Given the description of an element on the screen output the (x, y) to click on. 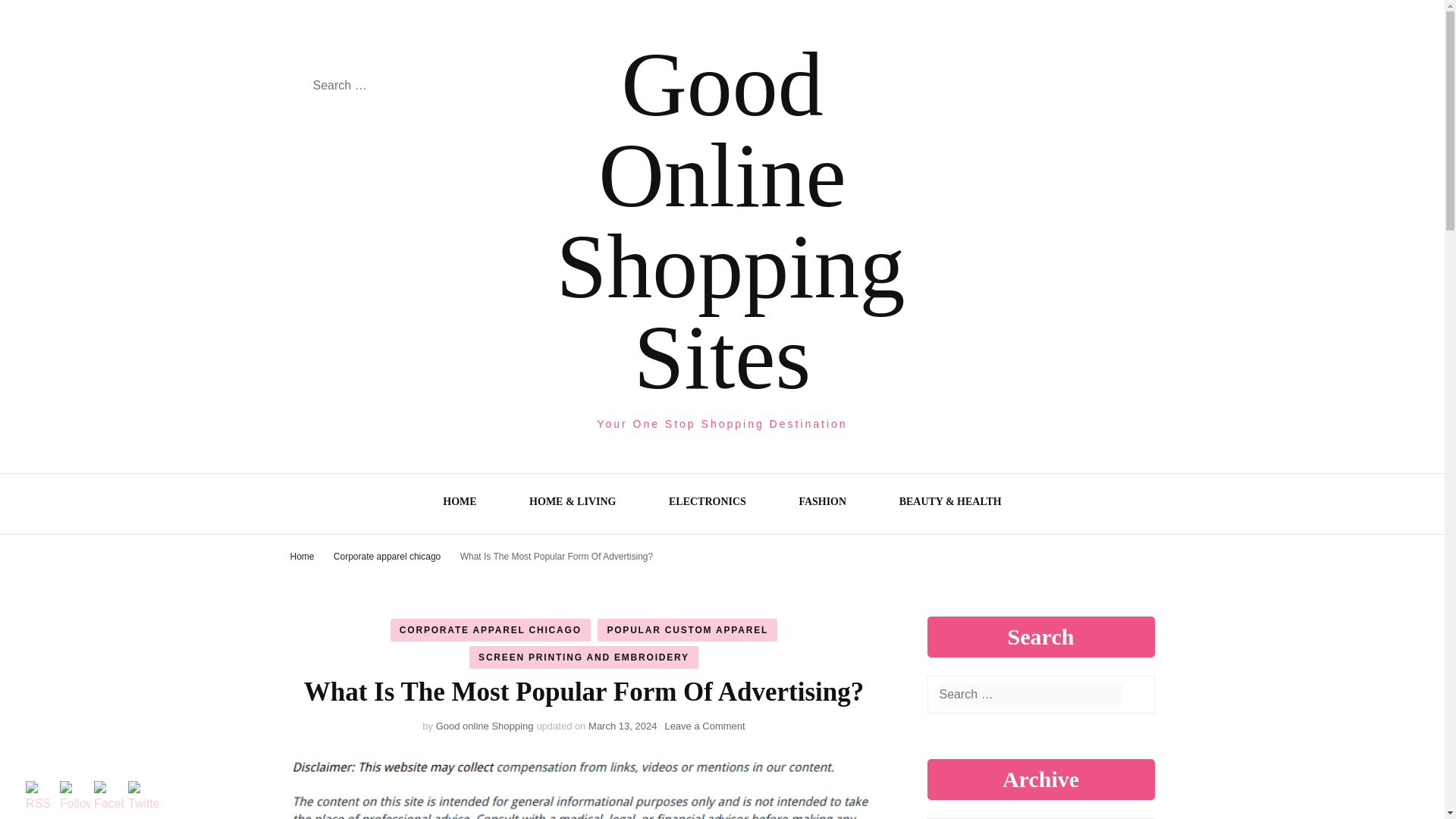
RSS (41, 797)
Home (301, 556)
CORPORATE APPAREL CHICAGO (490, 630)
March 13, 2024 (622, 726)
FASHION (821, 503)
What Is The Most Popular Form Of Advertising? (556, 556)
Search (1134, 694)
Search (295, 86)
Good Online Shopping Sites (730, 220)
